Given the description of an element on the screen output the (x, y) to click on. 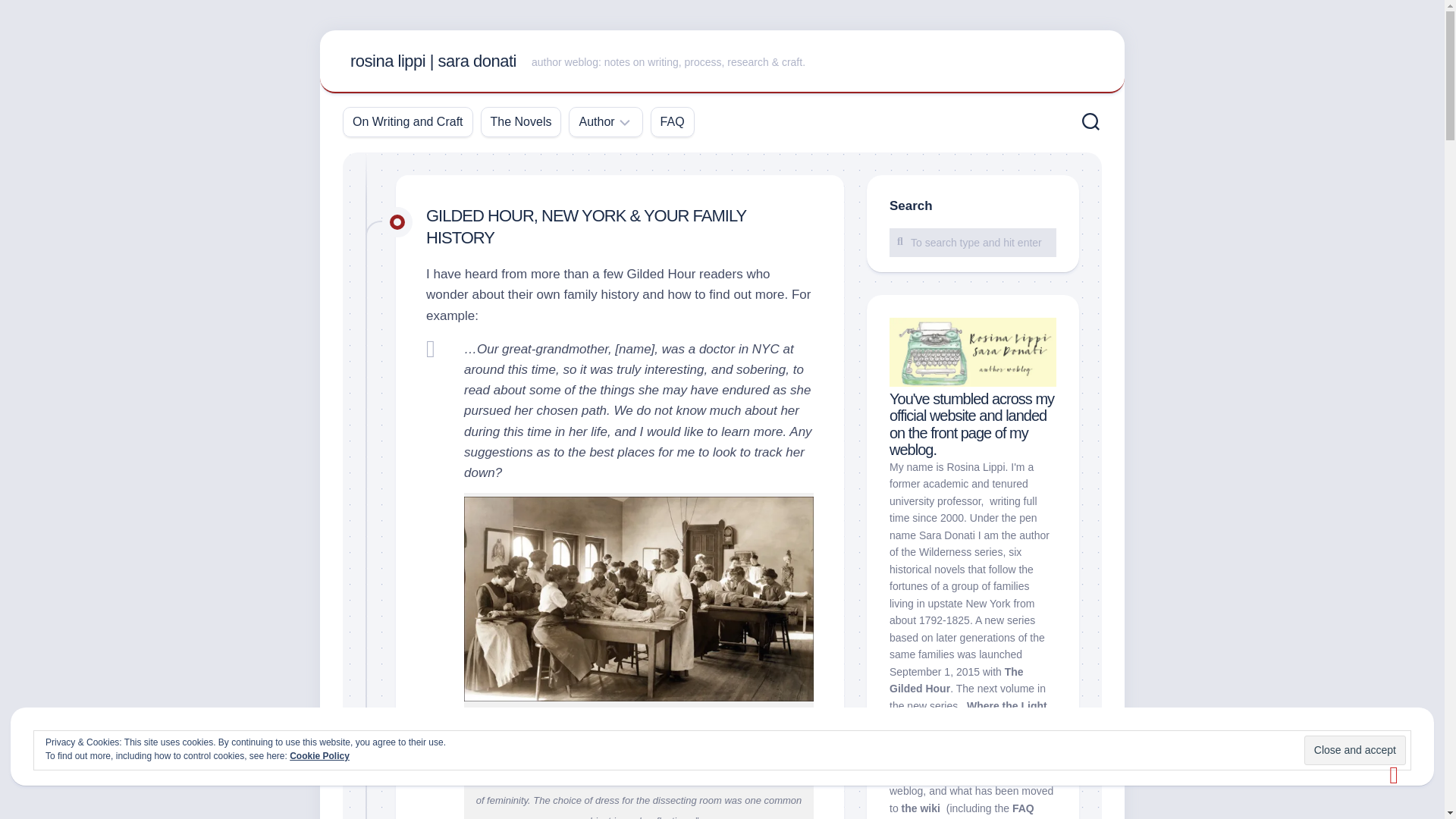
On Writing and Craft (407, 121)
To search type and hit enter (973, 241)
the wiki (920, 808)
FAQ (672, 121)
Close and accept (1355, 749)
FAQ page (961, 810)
Author (596, 121)
The Novels (520, 121)
To search type and hit enter (973, 241)
